Given the description of an element on the screen output the (x, y) to click on. 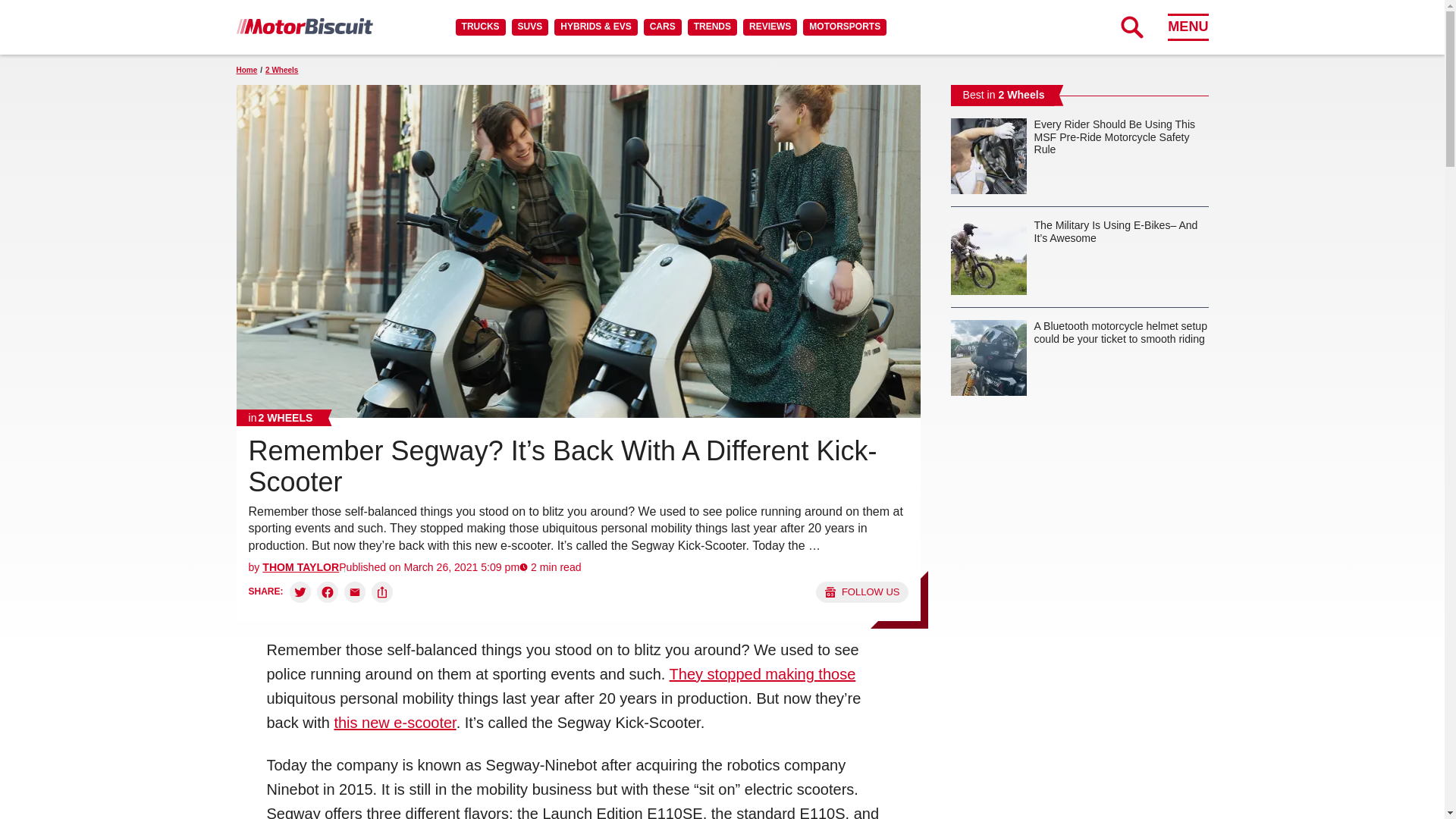
MOTORSPORTS (844, 26)
Follow us on Google News (861, 591)
2 Wheels (279, 417)
REVIEWS (769, 26)
Copy link and share:  (382, 591)
MENU (1187, 26)
SUVS (530, 26)
Expand Search (1131, 26)
MotorBiscuit (303, 26)
